Given the description of an element on the screen output the (x, y) to click on. 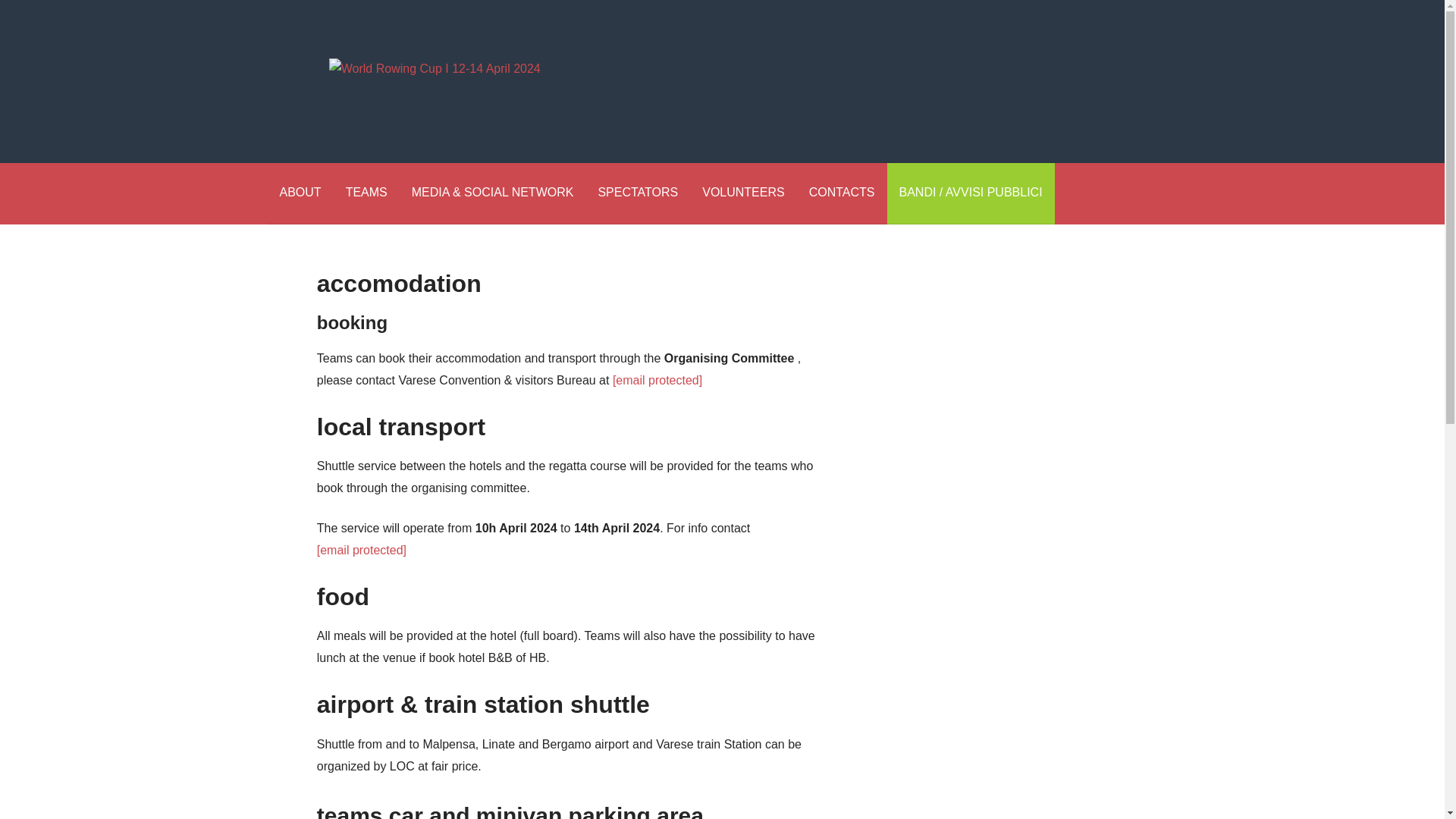
CONTACTS (841, 193)
ABOUT (299, 193)
TEAMS (365, 193)
SPECTATORS (637, 193)
VOLUNTEERS (743, 193)
